Given the description of an element on the screen output the (x, y) to click on. 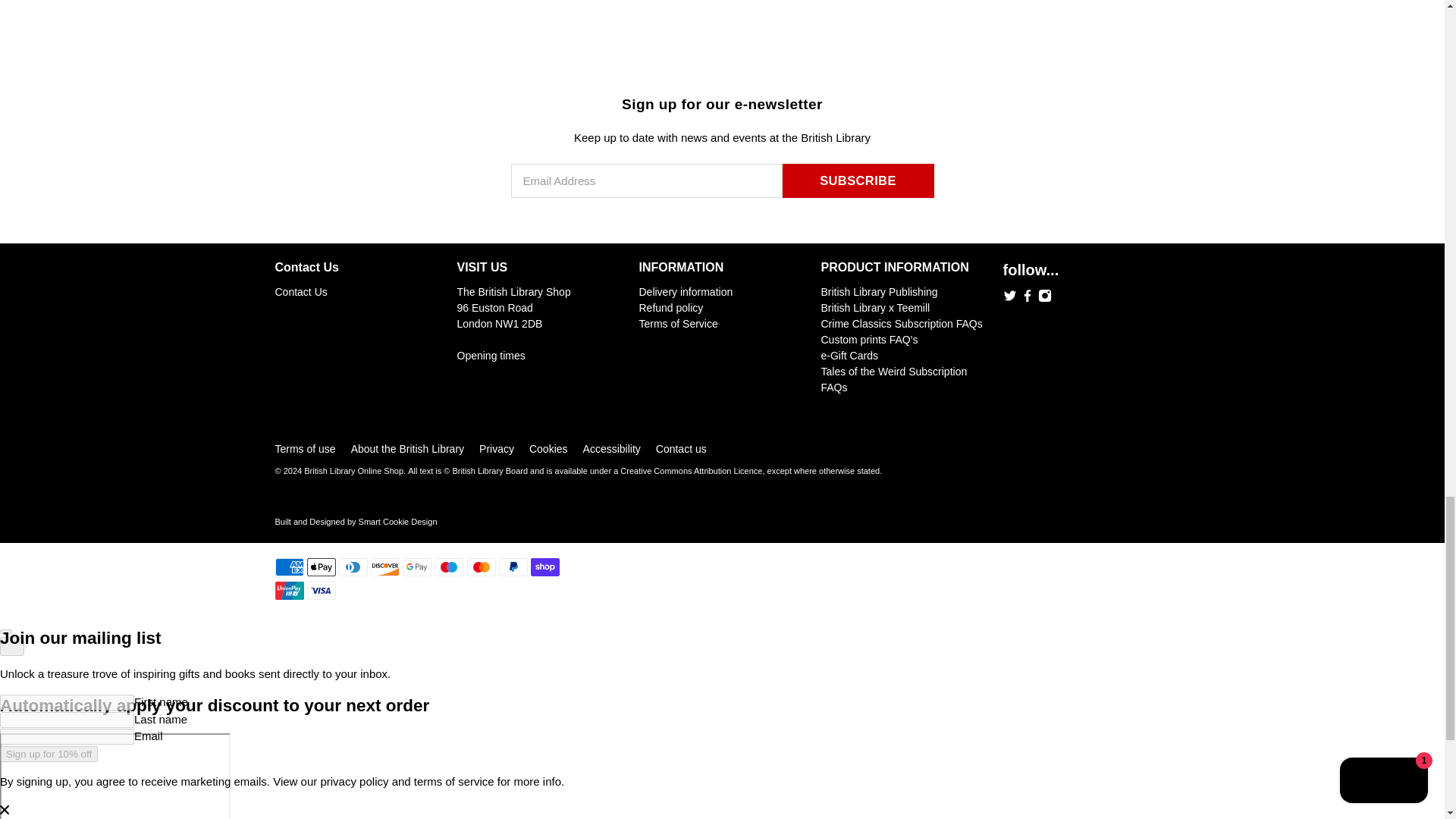
Diners Club (353, 566)
Union Pay (288, 590)
Google Pay (416, 566)
Discover (384, 566)
Smart Cookie Design (398, 521)
British Library Online Shop on Facebook (1026, 298)
PayPal (513, 566)
British Library Online Shop on Twitter (1009, 298)
Apple Pay (321, 566)
British Library Online Shop on Instagram (1043, 298)
Maestro (448, 566)
Mastercard (481, 566)
Shop Pay (545, 566)
American Express (288, 566)
